Given the description of an element on the screen output the (x, y) to click on. 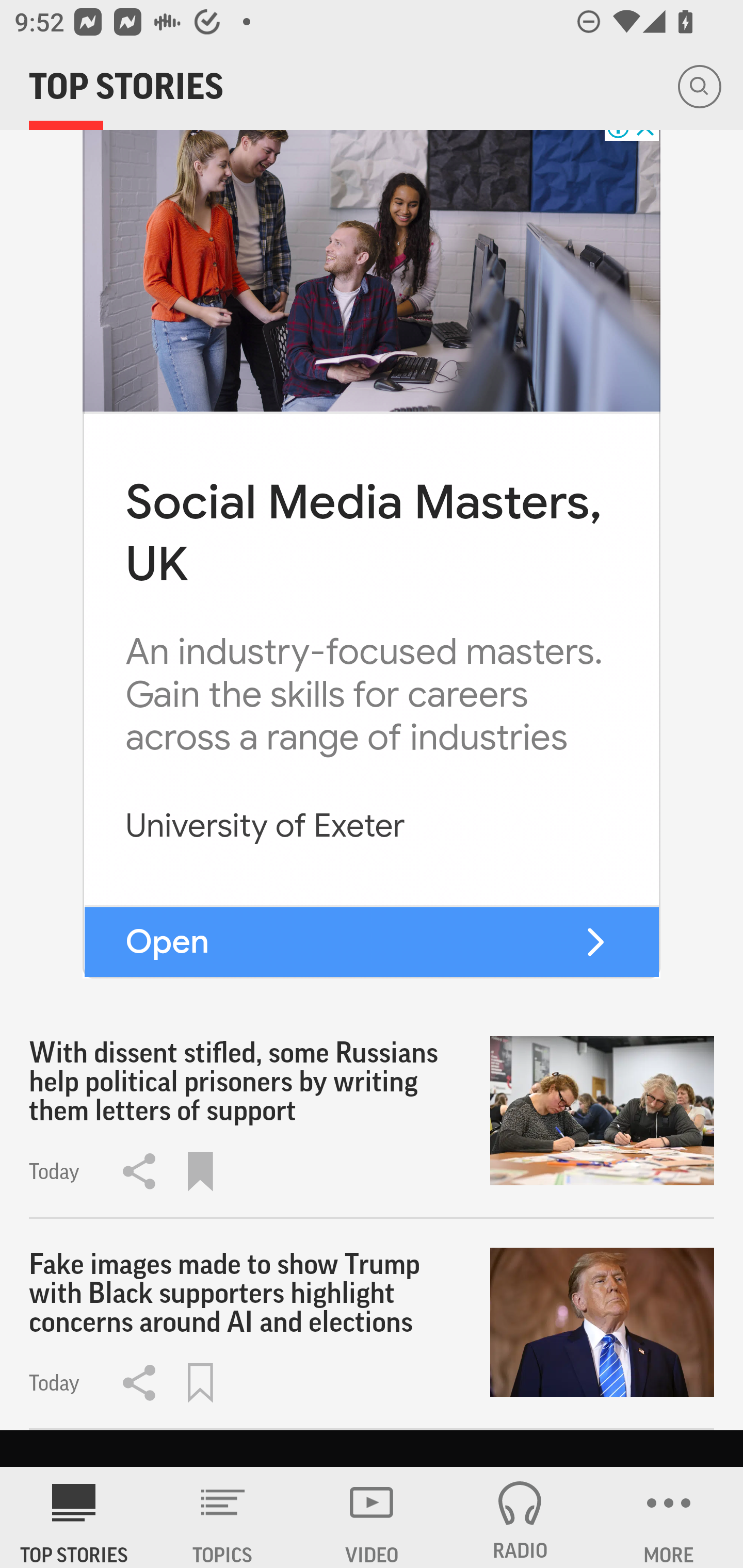
Social Media Masters, UK Social Media Masters, UK (363, 534)
University of Exeter (264, 825)
Open (167, 940)
AP News TOP STORIES (74, 1517)
TOPICS (222, 1517)
VIDEO (371, 1517)
RADIO (519, 1517)
MORE (668, 1517)
